Given the description of an element on the screen output the (x, y) to click on. 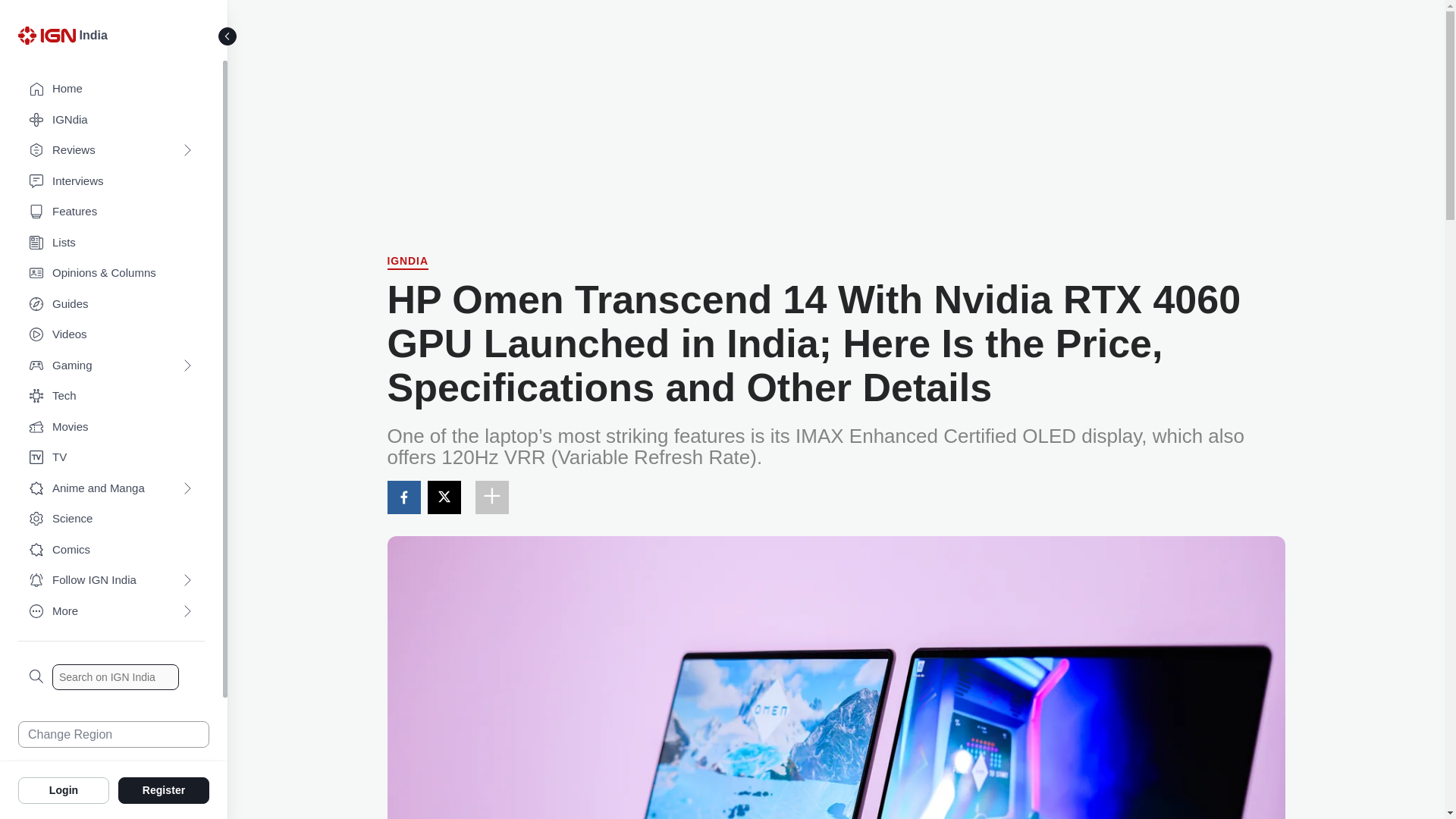
IGN Logo (48, 39)
Gaming (111, 365)
Lists (111, 242)
IGNdia (111, 119)
Guides (111, 304)
Tech (111, 396)
IGNdia (407, 262)
Toggle Sidebar (226, 36)
TV (111, 457)
Comics (111, 550)
Movies (111, 427)
Interviews (111, 181)
Features (111, 211)
Reviews (111, 150)
Home (111, 89)
